Given the description of an element on the screen output the (x, y) to click on. 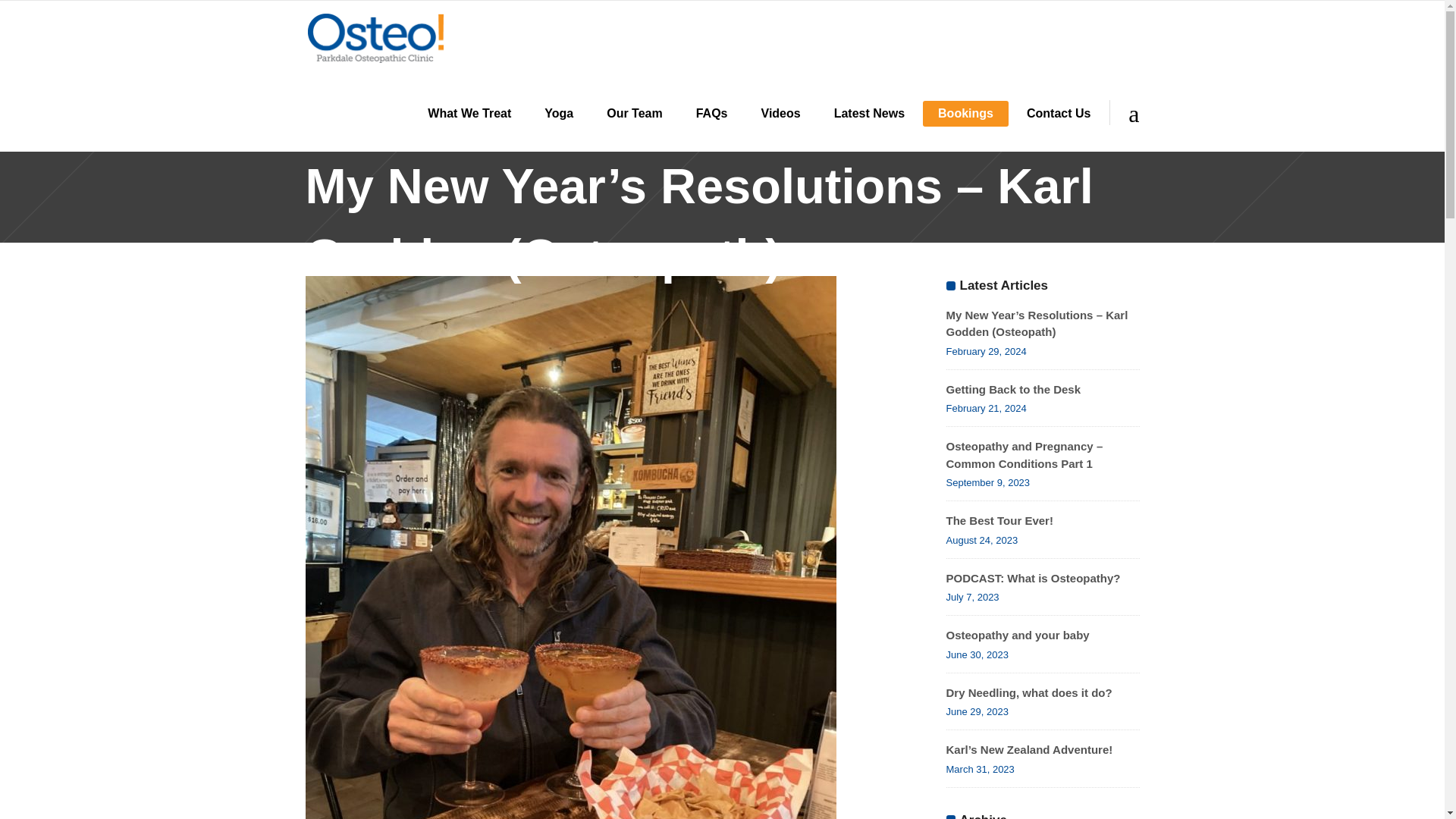
Our Team (634, 113)
Bookings (966, 113)
Latest News (869, 113)
Videos (780, 113)
What We Treat (468, 113)
Contact Us (1058, 113)
